Given the description of an element on the screen output the (x, y) to click on. 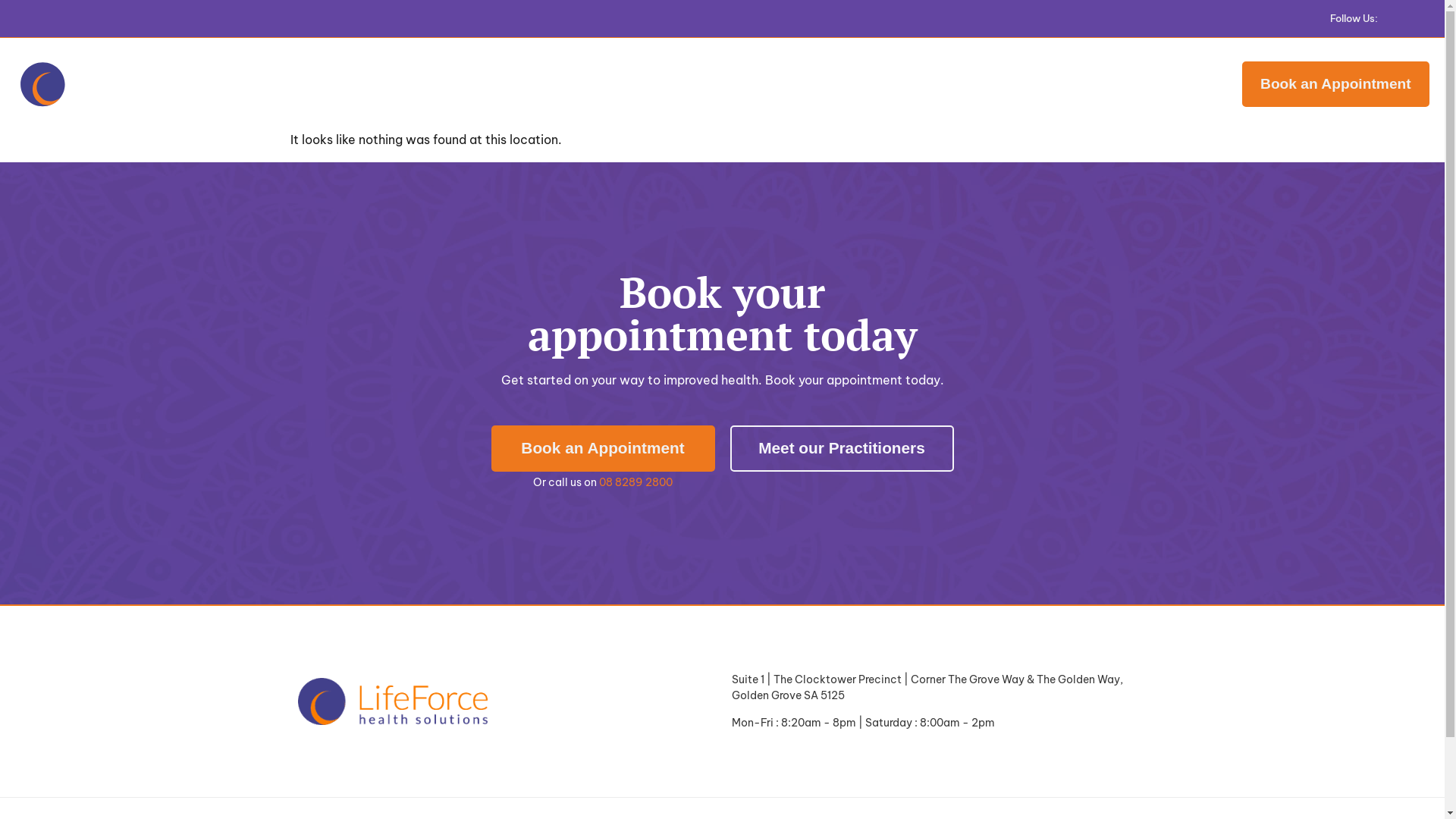
Meet our Practitioners Element type: text (841, 448)
Book an Appointment Element type: text (603, 448)
Contact Element type: text (904, 83)
Book an Appointment Element type: text (1335, 83)
08 8289 2800 Element type: text (635, 482)
Health Corner Element type: text (827, 83)
Home Element type: text (406, 83)
(08) 8289 2800 Element type: text (1153, 84)
About Element type: text (460, 83)
Treatments Element type: text (533, 83)
Programs & Services Element type: text (649, 83)
